Given the description of an element on the screen output the (x, y) to click on. 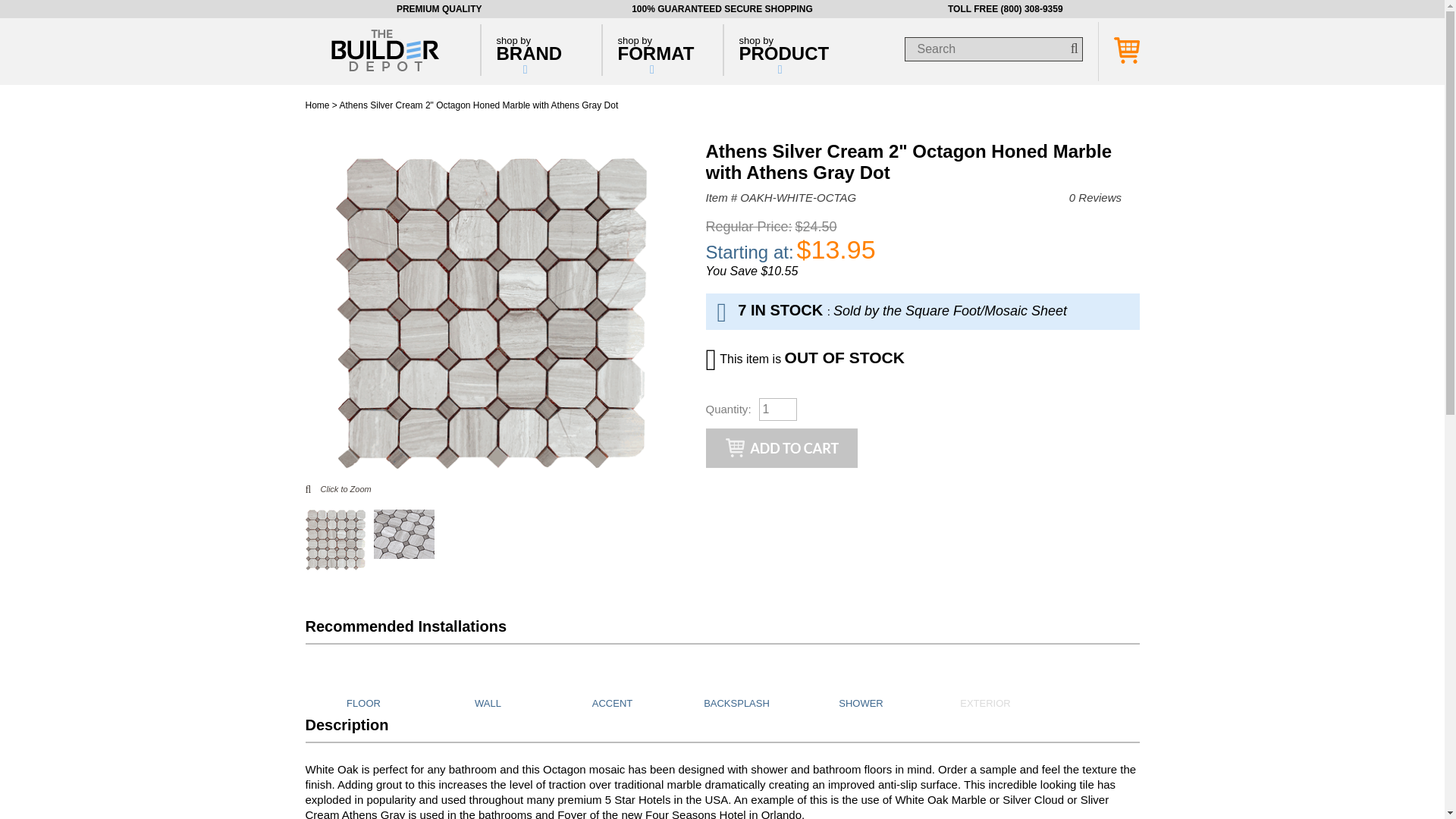
1 (777, 409)
Shop by Brand (539, 50)
